Given the description of an element on the screen output the (x, y) to click on. 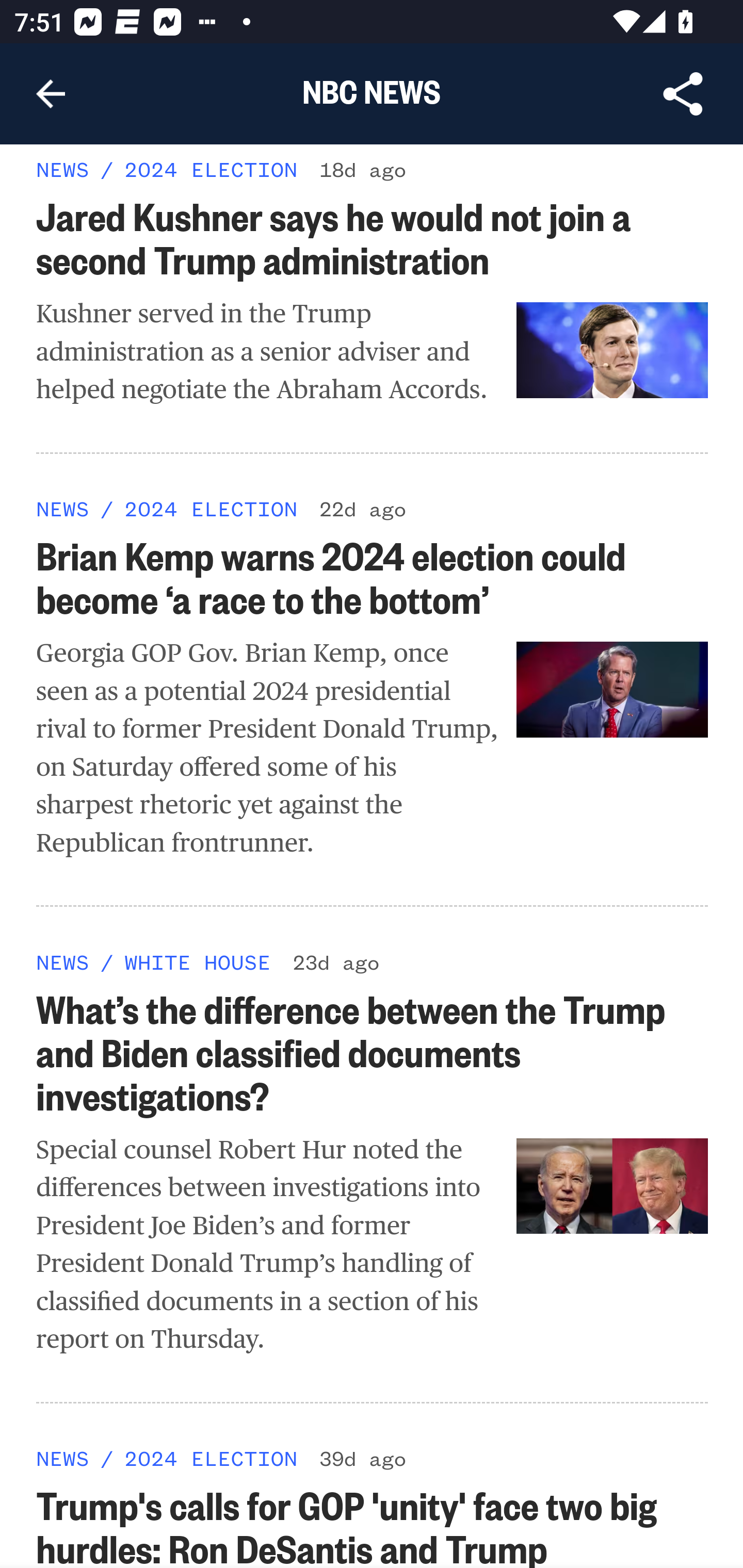
Navigate up (50, 93)
Share Article, button (683, 94)
NEWS NEWS NEWS (63, 169)
2024 ELECTION 2024 ELECTION 2024 ELECTION (209, 169)
NEWS NEWS NEWS (63, 510)
2024 ELECTION 2024 ELECTION 2024 ELECTION (209, 510)
NEWS NEWS NEWS (63, 962)
WHITE HOUSE WHITE HOUSE WHITE HOUSE (196, 962)
NEWS NEWS NEWS (63, 1458)
2024 ELECTION 2024 ELECTION 2024 ELECTION (209, 1458)
